Given the description of an element on the screen output the (x, y) to click on. 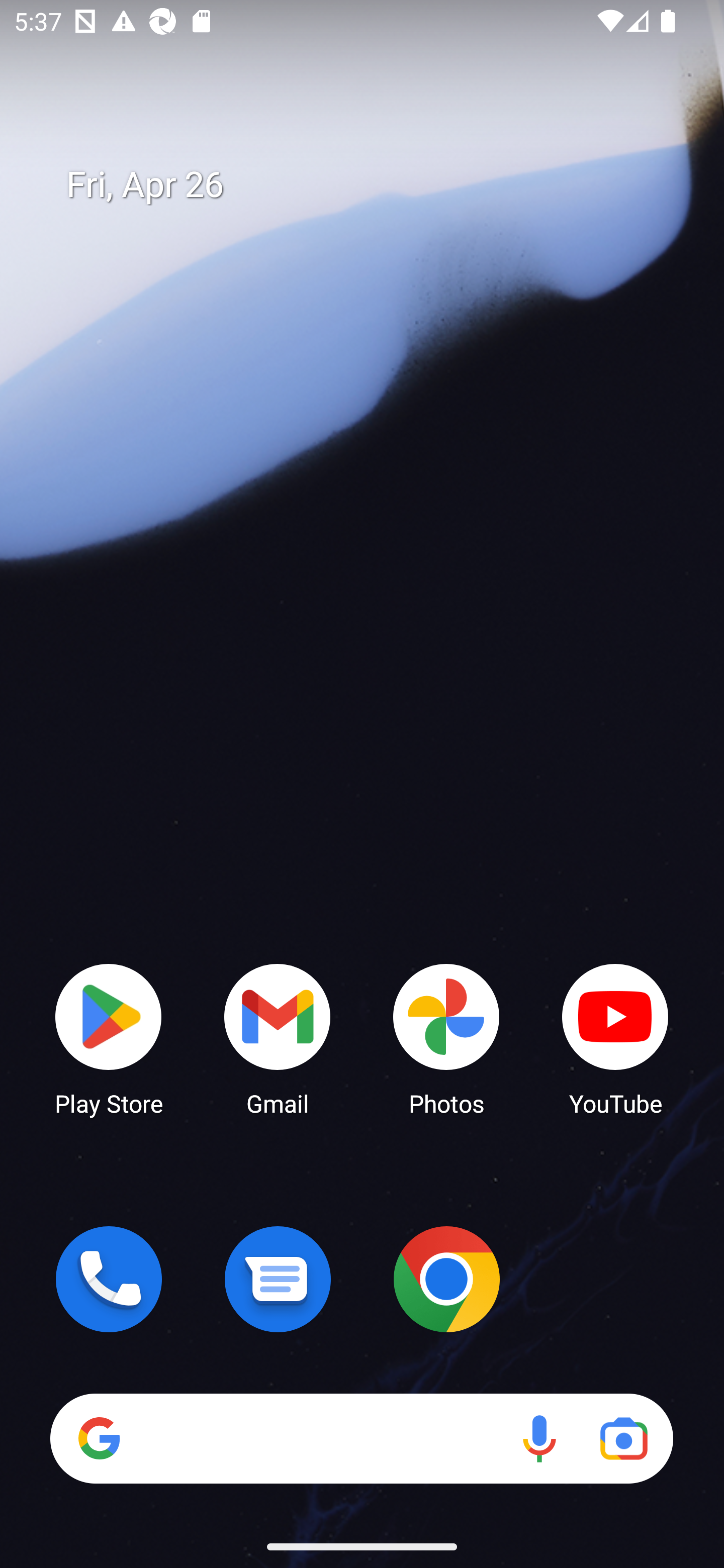
Fri, Apr 26 (375, 184)
Play Store (108, 1038)
Gmail (277, 1038)
Photos (445, 1038)
YouTube (615, 1038)
Phone (108, 1279)
Messages (277, 1279)
Chrome (446, 1279)
Search Voice search Google Lens (361, 1438)
Voice search (539, 1438)
Google Lens (623, 1438)
